Given the description of an element on the screen output the (x, y) to click on. 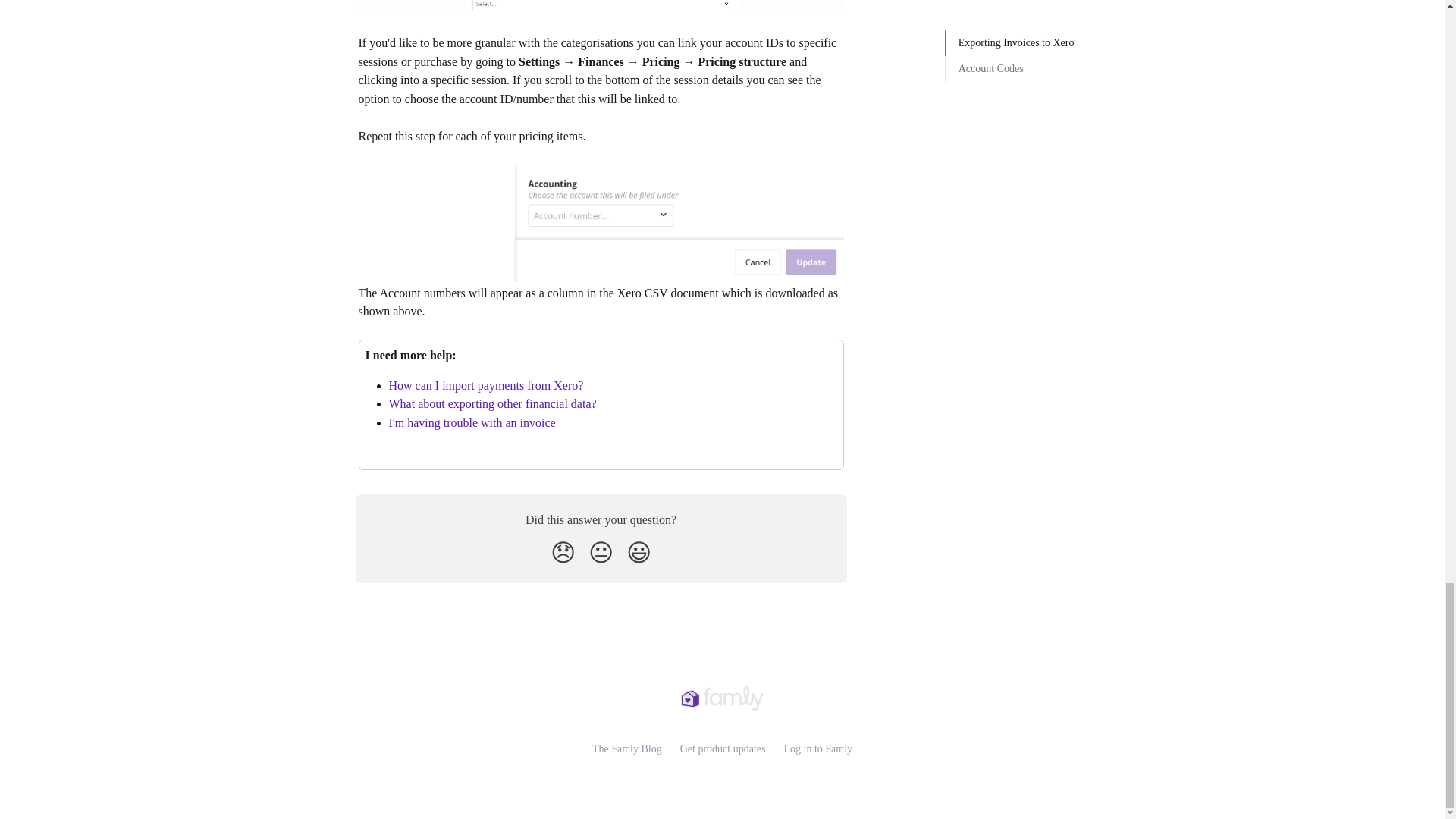
I'm having trouble with an invoice (472, 422)
Neutral (600, 552)
How can I import payments from Xero? (487, 385)
What about exporting other financial data? (491, 403)
Smiley (638, 552)
The Famly Blog (627, 748)
Log in to Famly (817, 748)
Disappointed (562, 552)
Get product updates (722, 748)
